Given the description of an element on the screen output the (x, y) to click on. 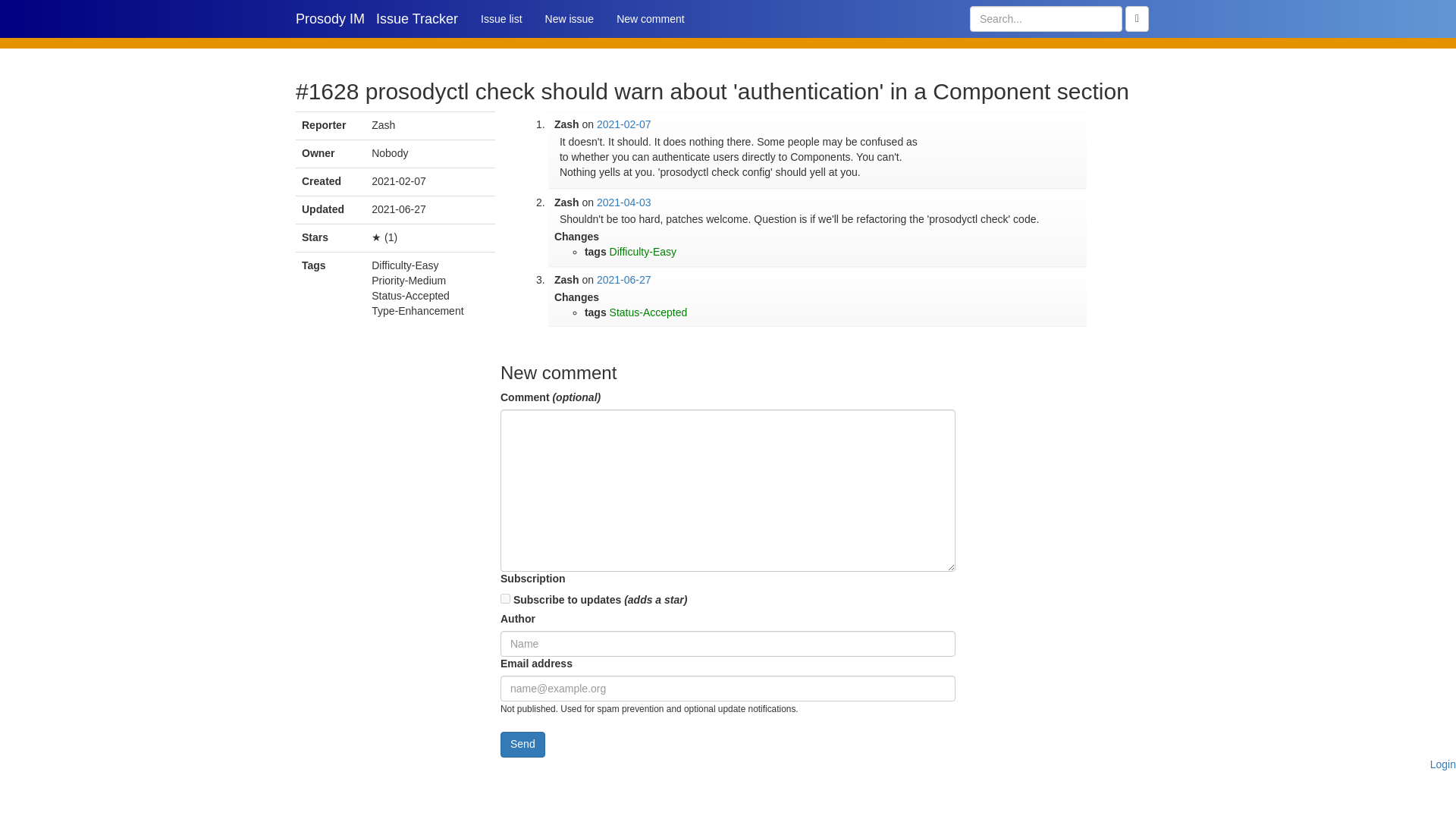
New issue (569, 18)
New comment (650, 18)
Send (522, 744)
Issue Tracker (416, 18)
yes (505, 598)
Prosody IM (329, 18)
2021-04-03 (623, 202)
Issue list (500, 18)
2021-02-07 (623, 123)
2021-06-27 (623, 279)
